Given the description of an element on the screen output the (x, y) to click on. 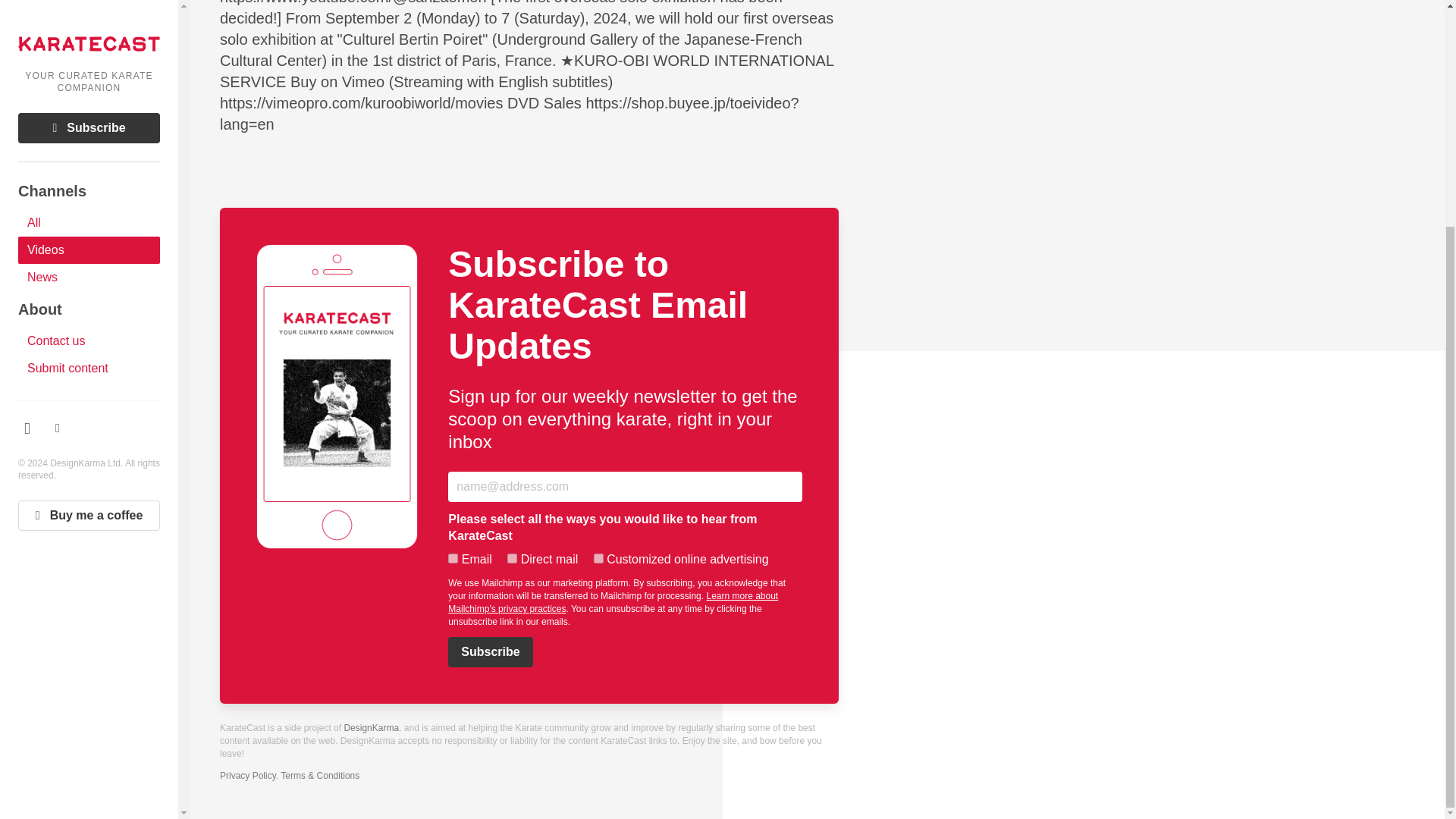
Y (511, 558)
Subscribe (490, 652)
Submit content (88, 63)
Y (599, 558)
DesignKarma (370, 727)
Buy me a coffee (88, 211)
Contact us (88, 36)
Y (453, 558)
Subscribe (490, 652)
Privacy Policy (247, 775)
